Given the description of an element on the screen output the (x, y) to click on. 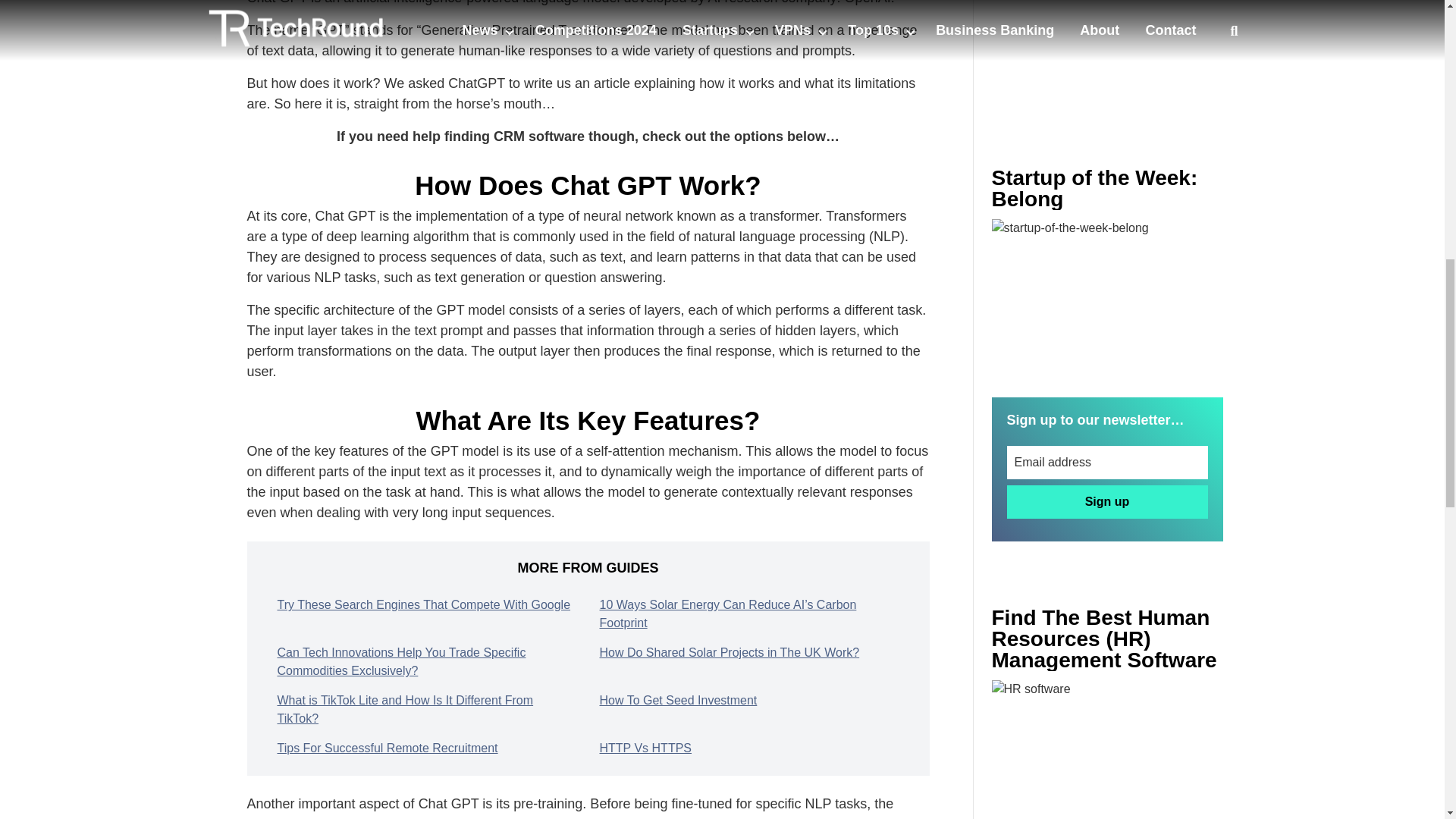
Advertisement (1107, 53)
Enter The BAME Top 50 Entrepreneurs - Deadline 10th Nov 2021 (1107, 749)
Startup of the Week: Neon Link (1107, 296)
Sign up (1107, 501)
